Given the description of an element on the screen output the (x, y) to click on. 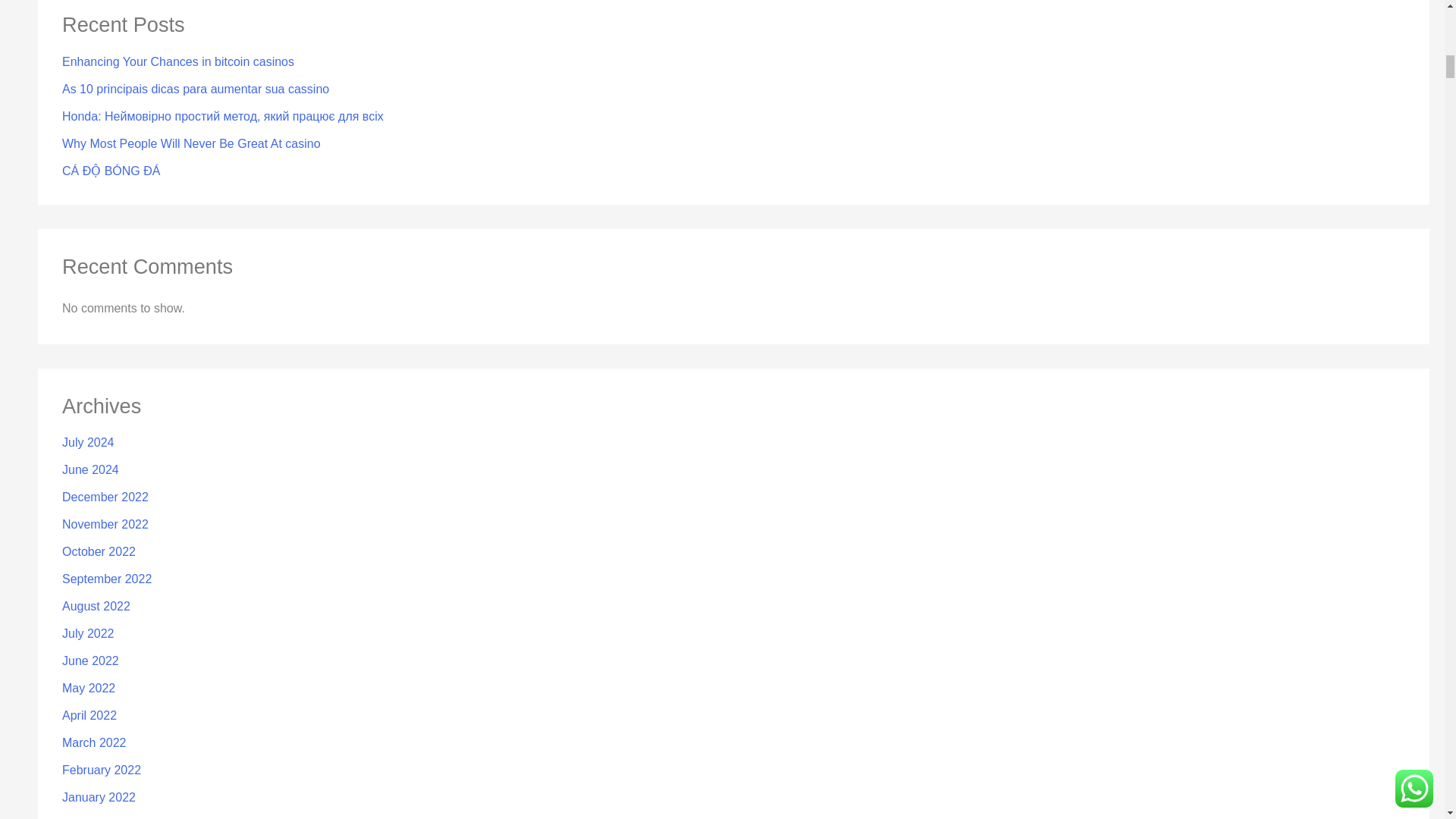
September 2022 (106, 578)
December 2022 (105, 496)
Enhancing Your Chances in bitcoin casinos (178, 61)
July 2024 (88, 441)
October 2022 (98, 551)
Why Most People Will Never Be Great At casino (191, 143)
August 2022 (96, 605)
November 2022 (105, 523)
As 10 principais dicas para aumentar sua cassino (195, 88)
June 2024 (90, 469)
